Given the description of an element on the screen output the (x, y) to click on. 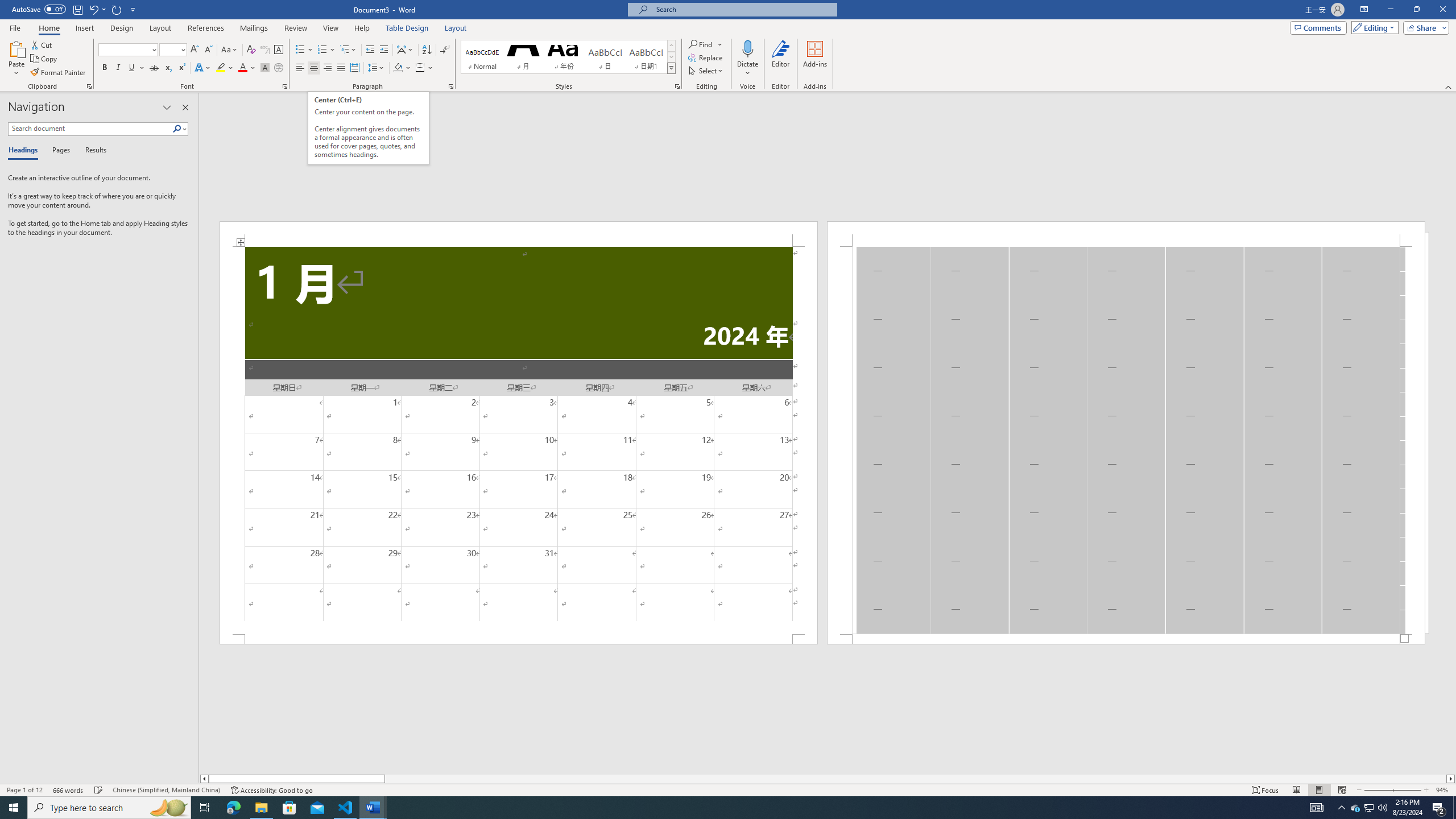
Asian Layout (405, 49)
Shrink Font (208, 49)
Word Count 666 words (68, 790)
Headings (25, 150)
Character Border (278, 49)
Center (313, 67)
